Given the description of an element on the screen output the (x, y) to click on. 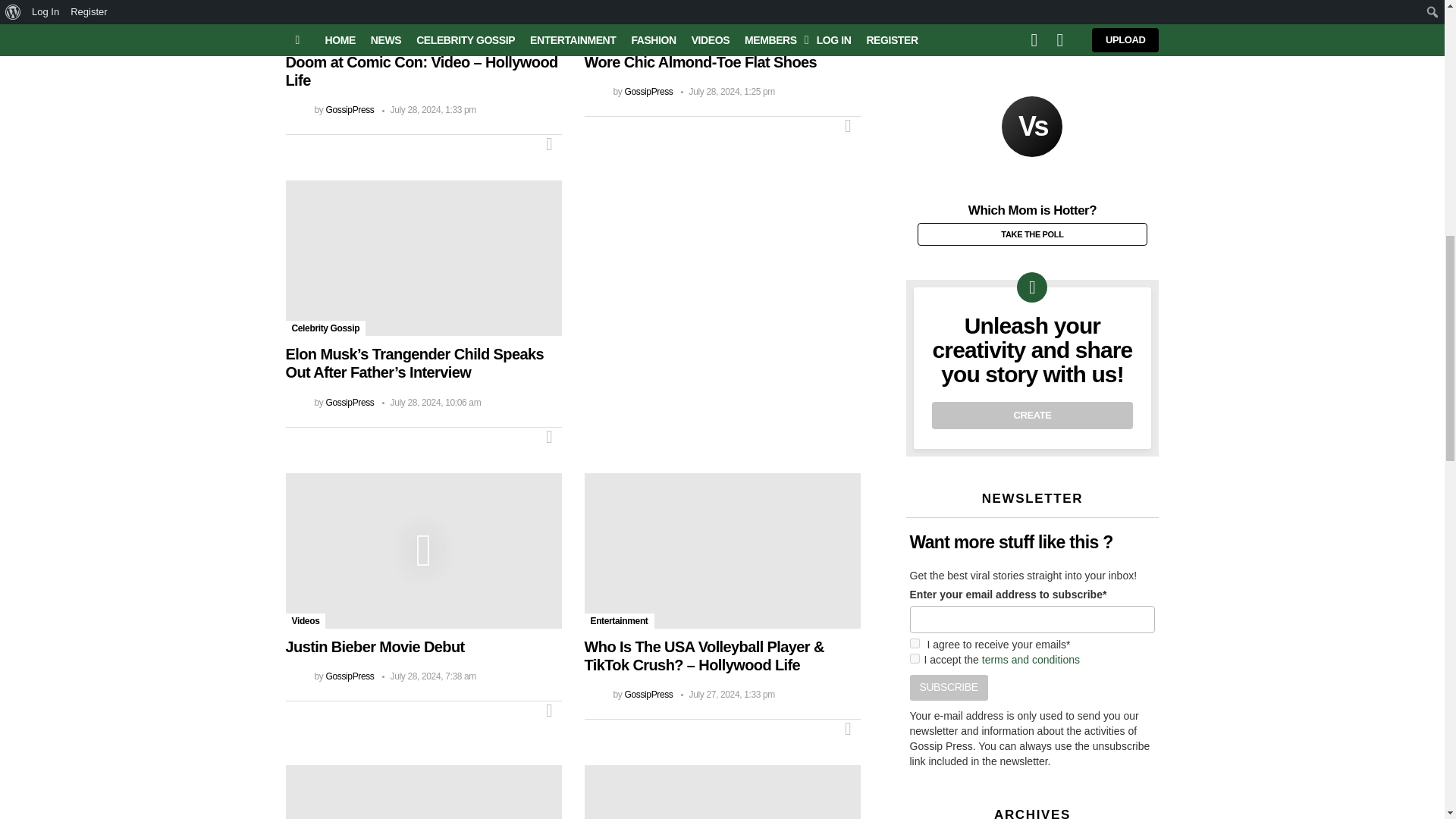
on (915, 658)
1 (915, 643)
Subscribe (949, 687)
